Given the description of an element on the screen output the (x, y) to click on. 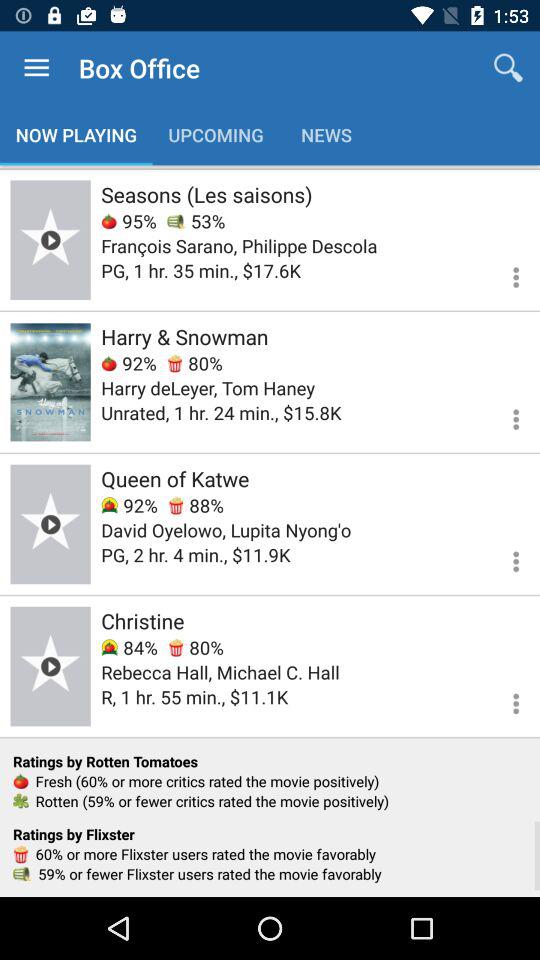
turn on icon above the 92% item (184, 336)
